Given the description of an element on the screen output the (x, y) to click on. 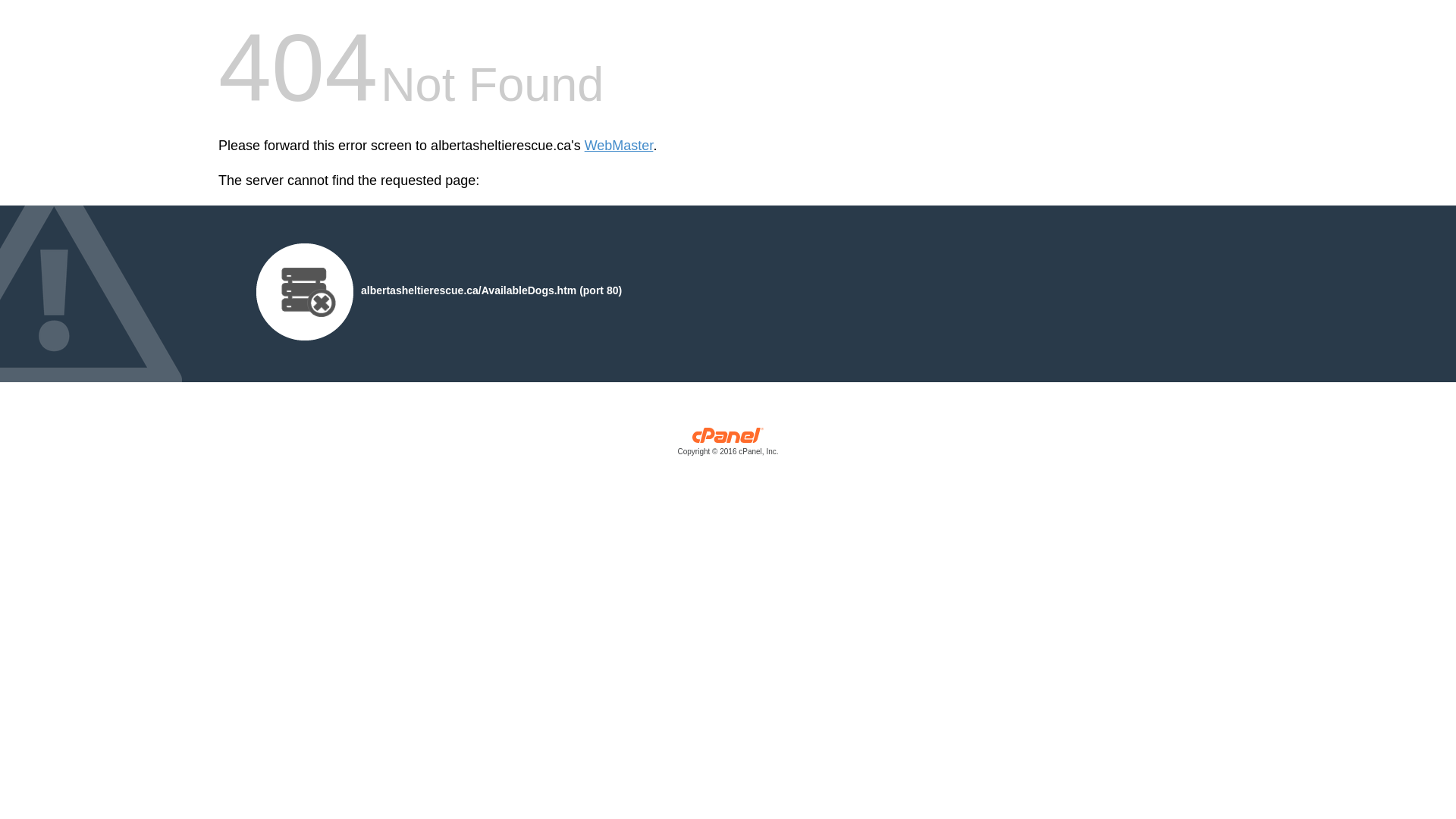
WebMaster Element type: text (618, 145)
